Given the description of an element on the screen output the (x, y) to click on. 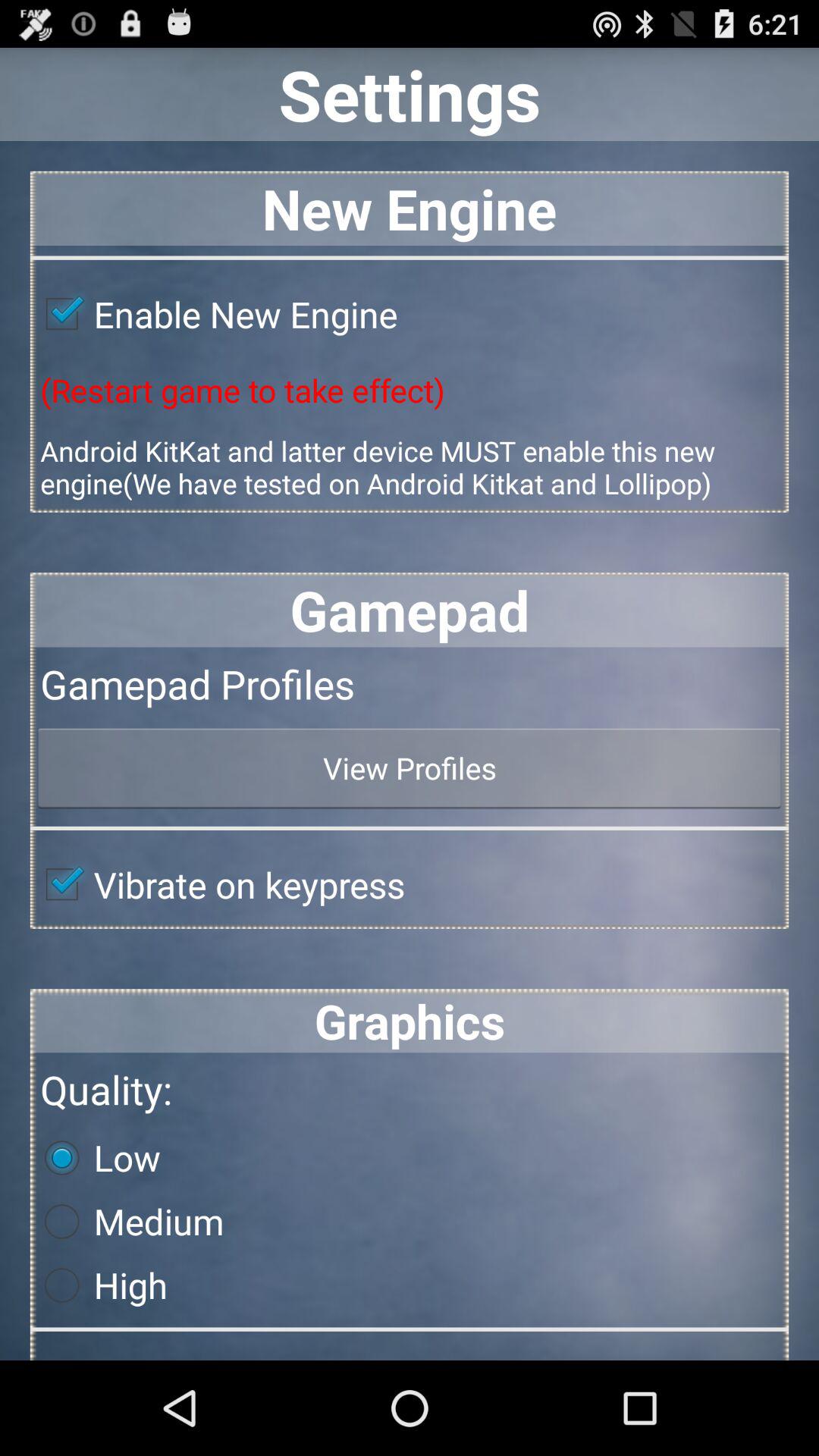
click on view profiles (409, 767)
click on medium radio button (127, 1221)
